Given the description of an element on the screen output the (x, y) to click on. 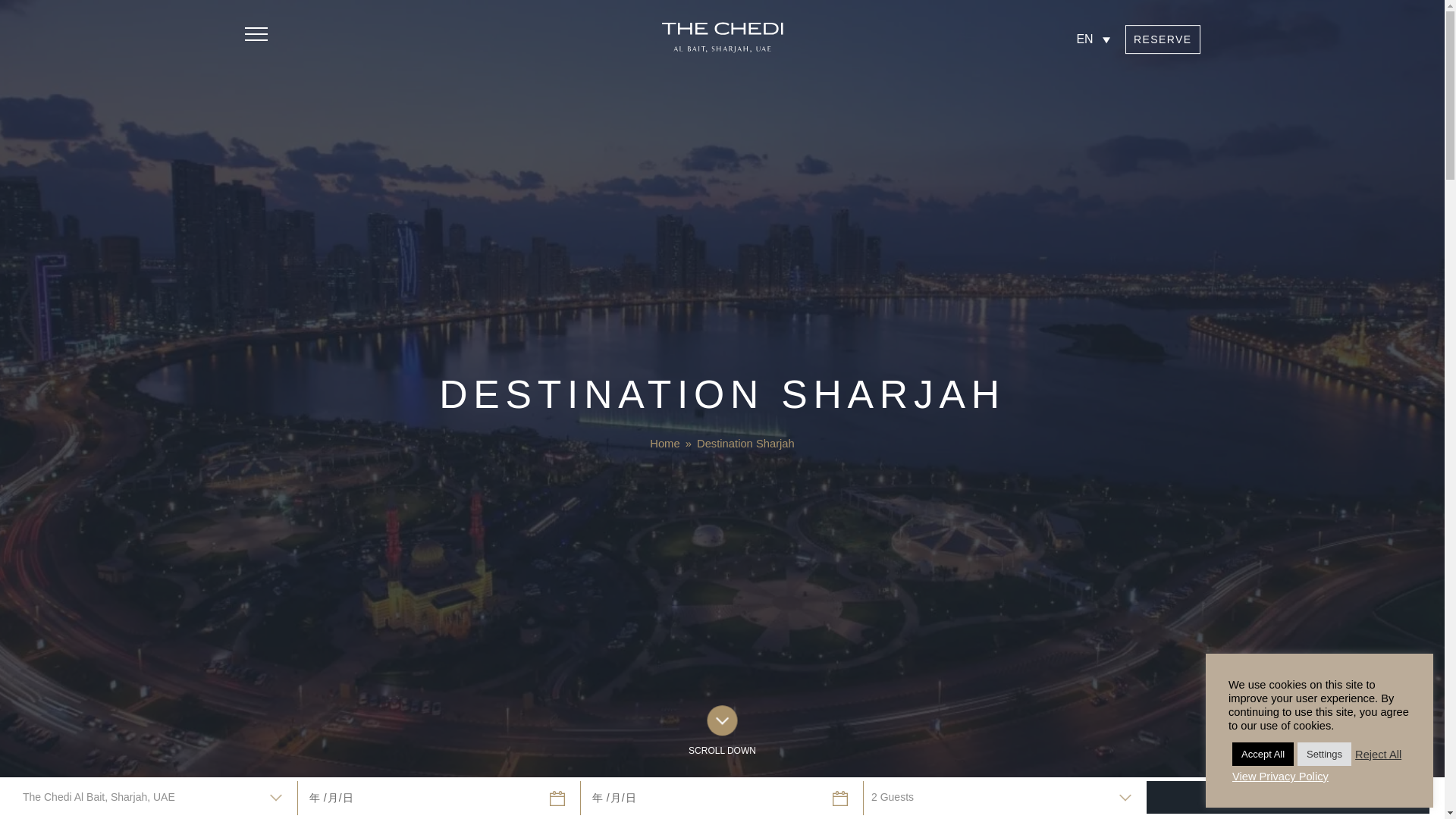
RESERVE (1162, 39)
Book Now (1288, 797)
SCROLL DOWN (721, 731)
SCROLL DOWN (721, 739)
Check Availability (1162, 39)
EN (1093, 39)
